Given the description of an element on the screen output the (x, y) to click on. 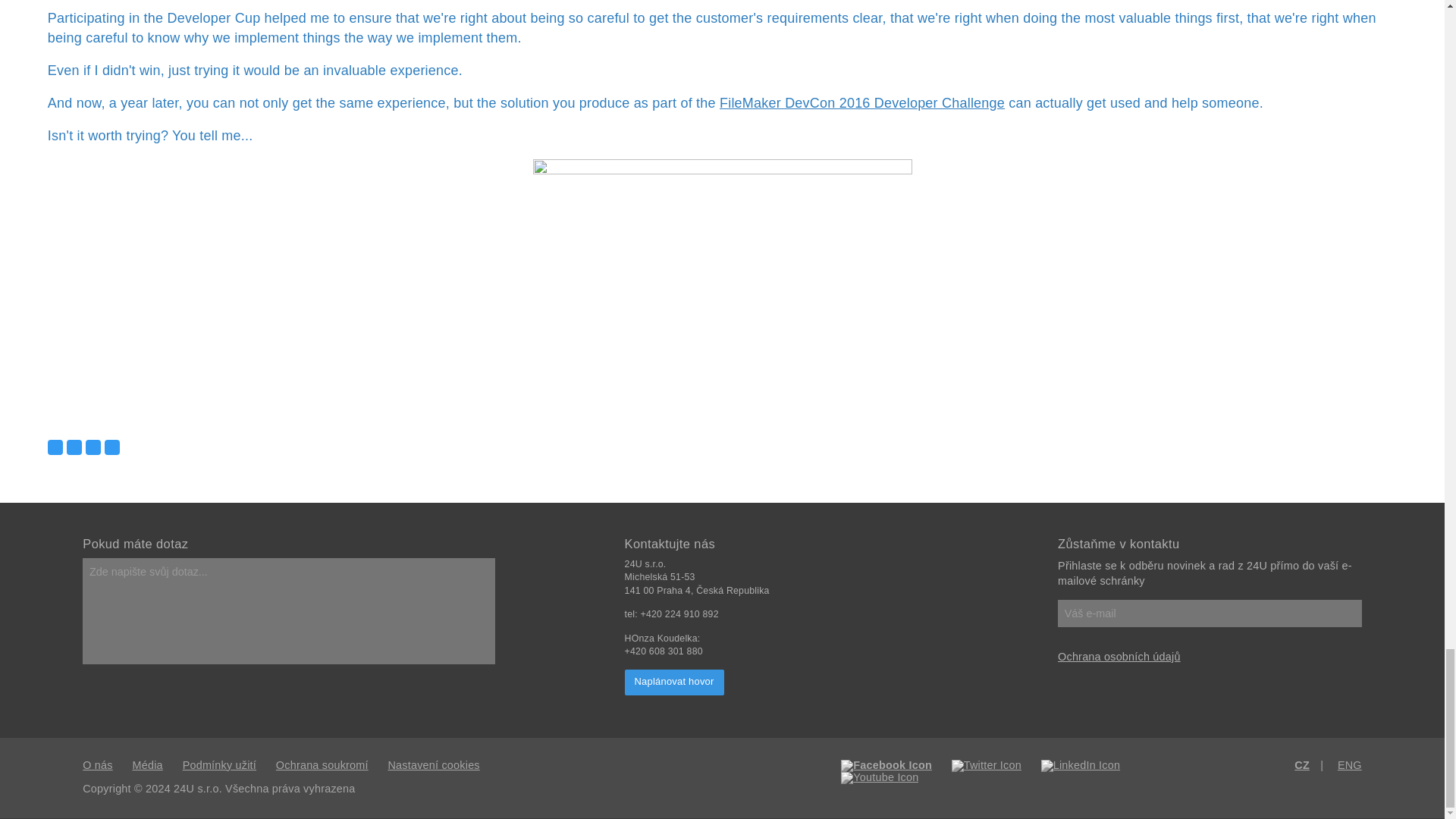
Share on Facebook (55, 447)
Share on Twitter (73, 447)
milovice (721, 285)
Share on LinkedIn (92, 447)
